Given the description of an element on the screen output the (x, y) to click on. 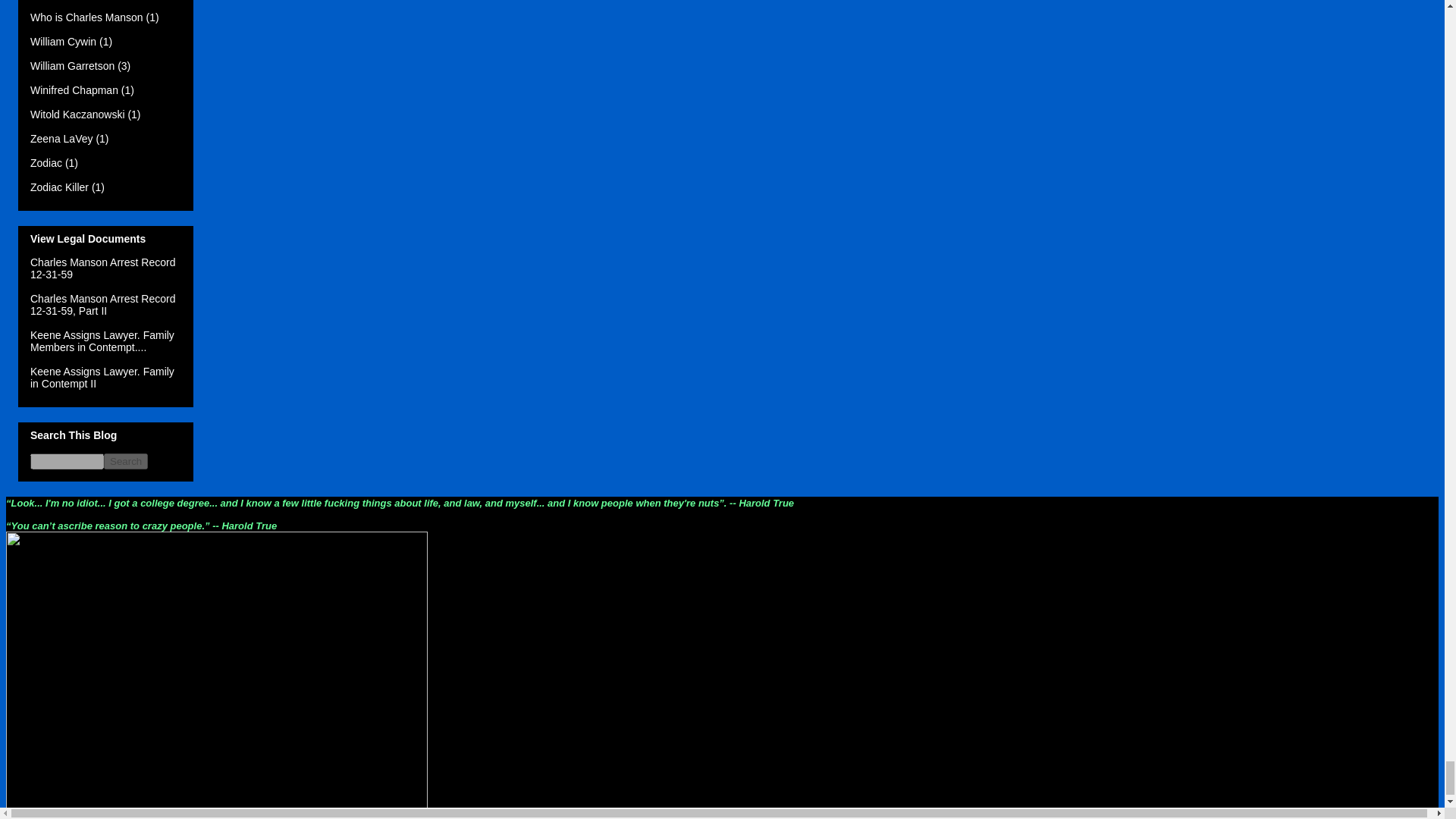
Search (125, 461)
Search (125, 461)
